Given the description of an element on the screen output the (x, y) to click on. 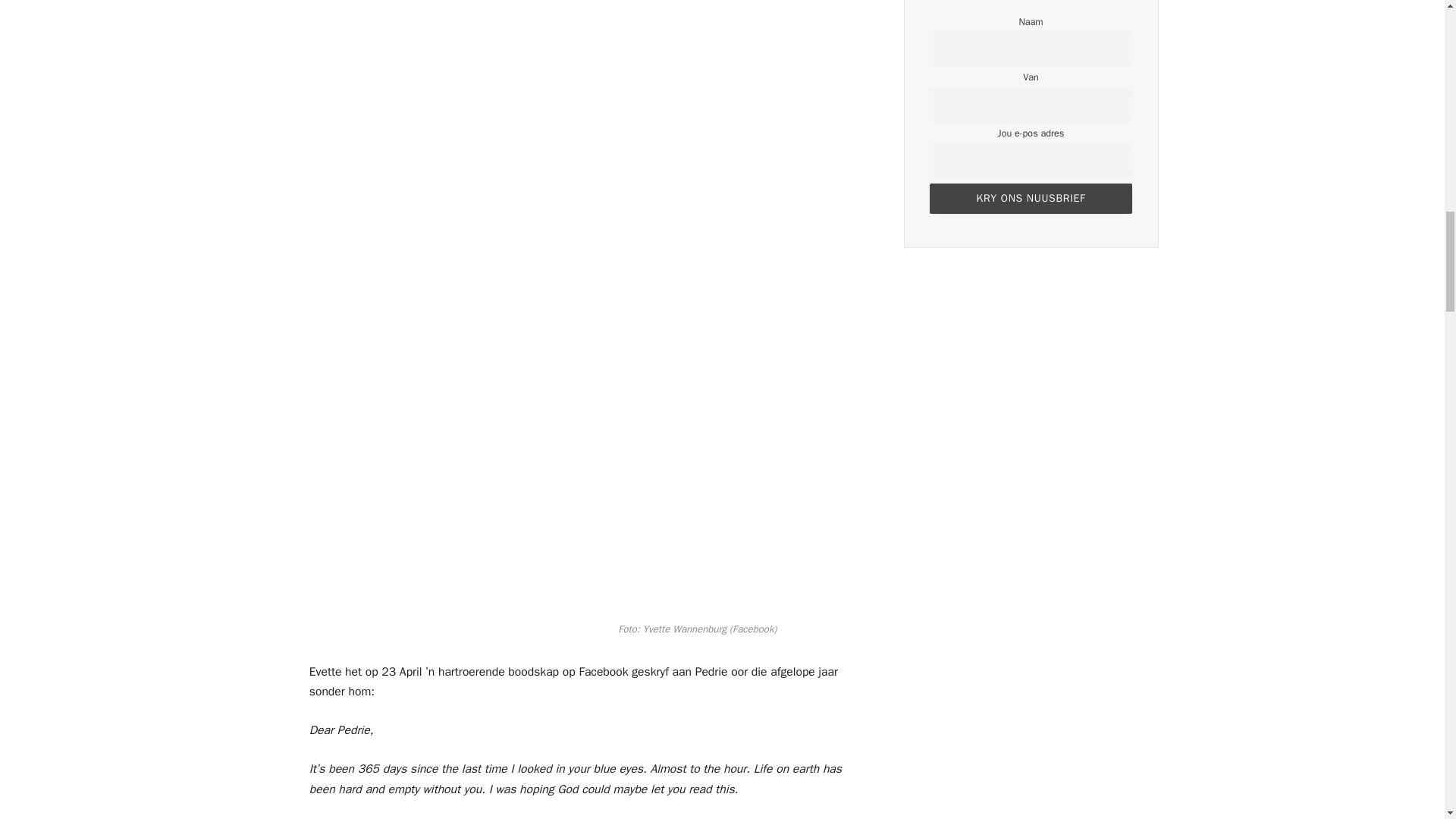
Kry Ons Nuusbrief (1031, 198)
